Given the description of an element on the screen output the (x, y) to click on. 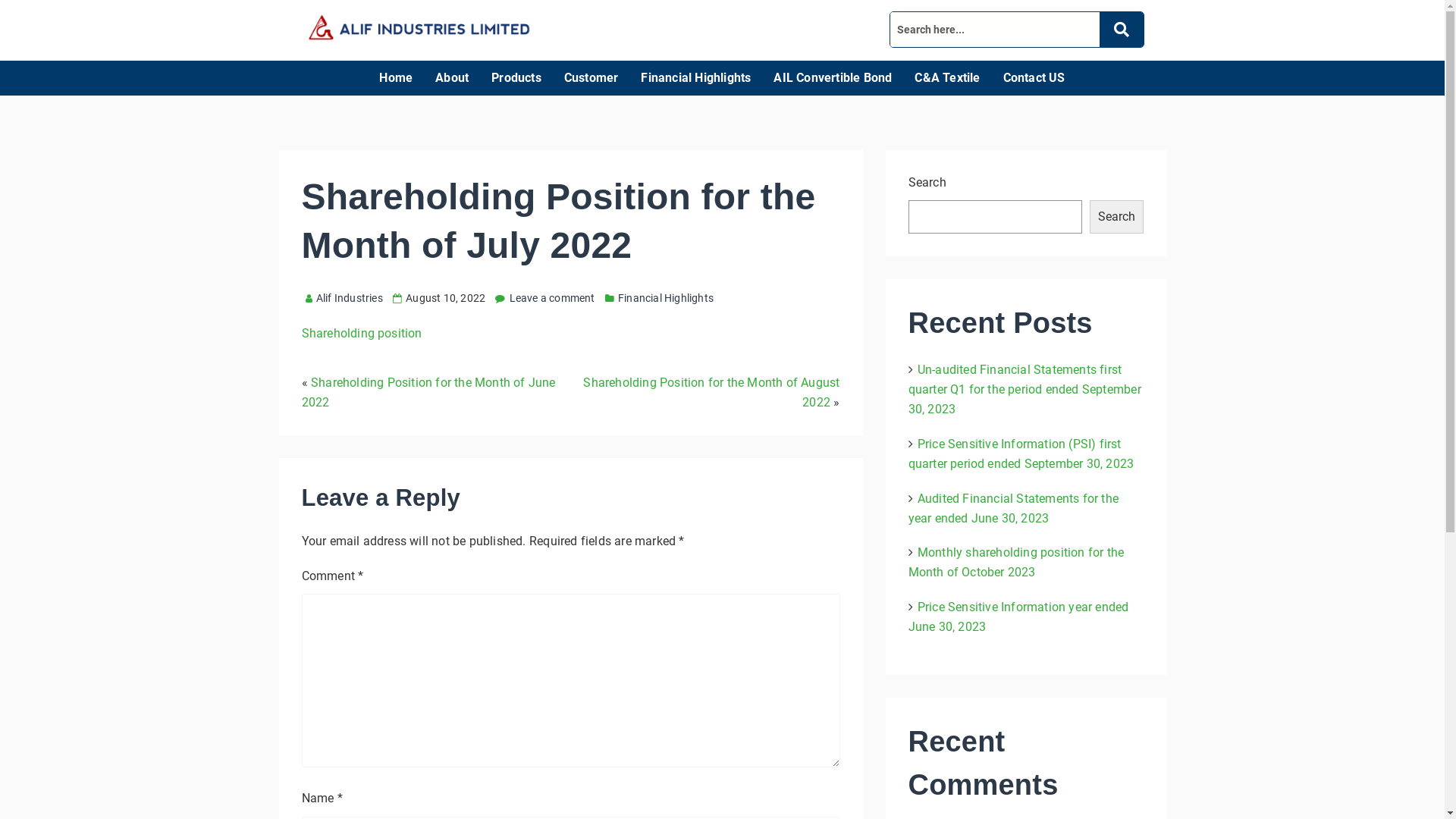
Shareholding position Element type: text (361, 333)
Monthly shareholding position for the Month of October 2023 Element type: text (1016, 562)
Search Element type: text (1115, 216)
C&A Textile Element type: text (947, 77)
AIL Convertible Bond Element type: text (832, 77)
Financial Highlights Element type: text (695, 77)
Financial Highlights Element type: text (665, 297)
Customer Element type: text (591, 77)
Products Element type: text (516, 77)
Home Element type: text (395, 77)
Search Element type: hover (995, 29)
Shareholding Position for the Month of August 2022 Element type: text (711, 392)
About Element type: text (451, 77)
Alif Industries Element type: text (343, 297)
Contact US Element type: text (1033, 77)
Leave a comment Element type: text (552, 297)
Price Sensitive Information year ended June 30, 2023 Element type: text (1018, 616)
Shareholding Position for the Month of June 2022 Element type: text (428, 392)
